Given the description of an element on the screen output the (x, y) to click on. 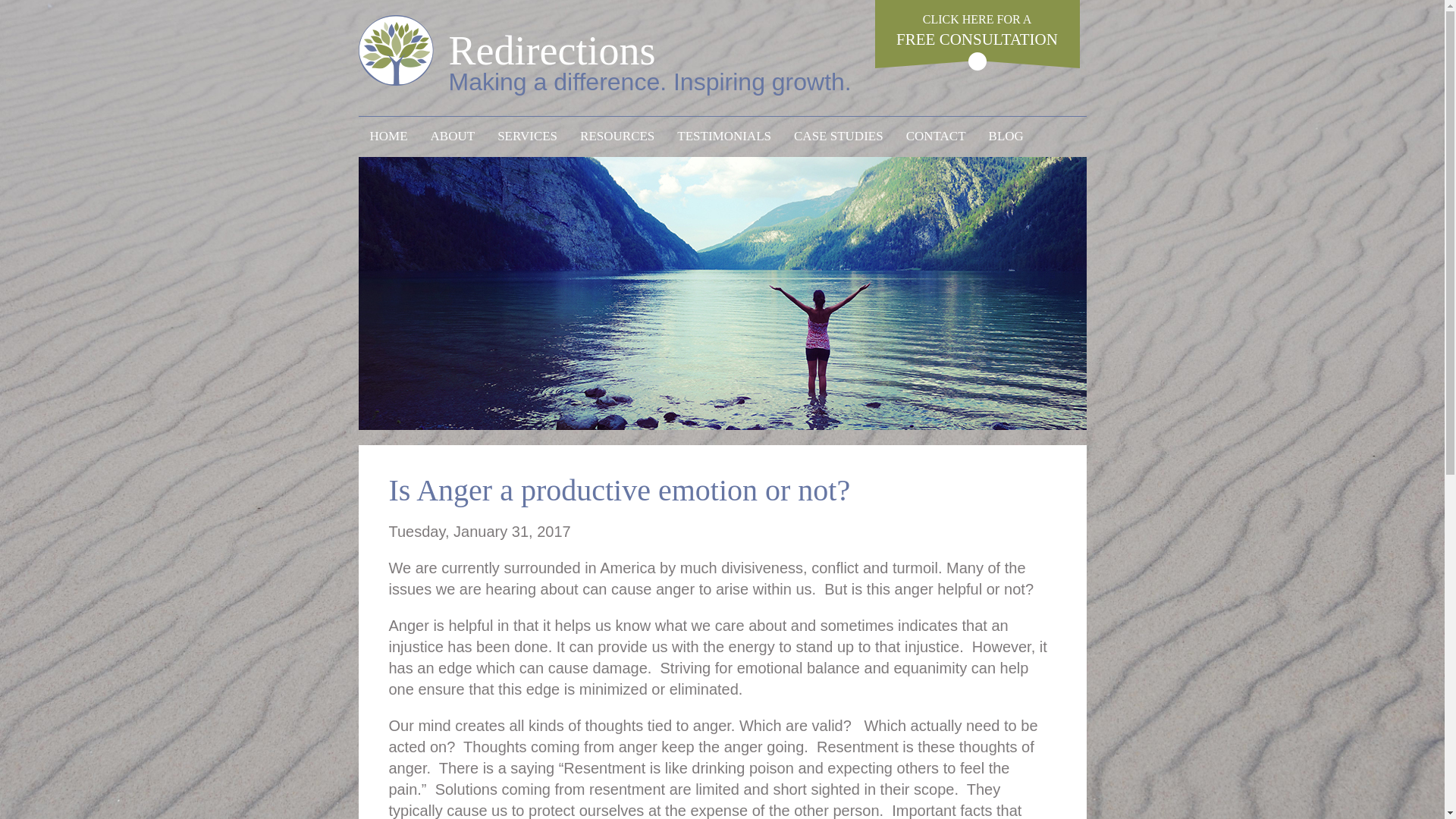
CONTACT (935, 137)
HOME (388, 137)
SERVICES (527, 137)
BLOG (1005, 137)
ABOUT (452, 137)
CASE STUDIES (612, 50)
RESOURCES (839, 137)
TESTIMONIALS (617, 137)
